Given the description of an element on the screen output the (x, y) to click on. 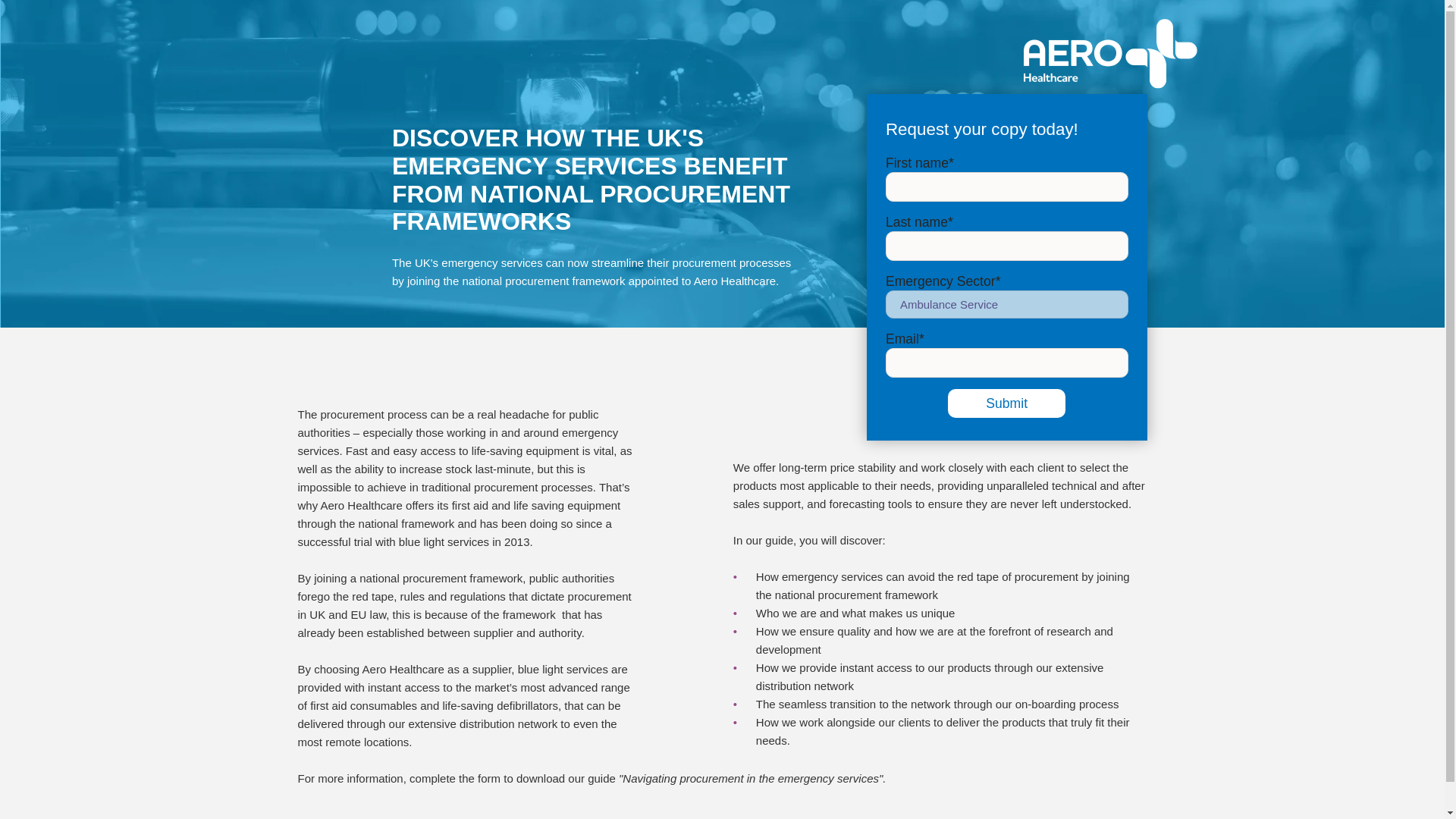
Submit (1006, 403)
Submit (1006, 403)
